Given the description of an element on the screen output the (x, y) to click on. 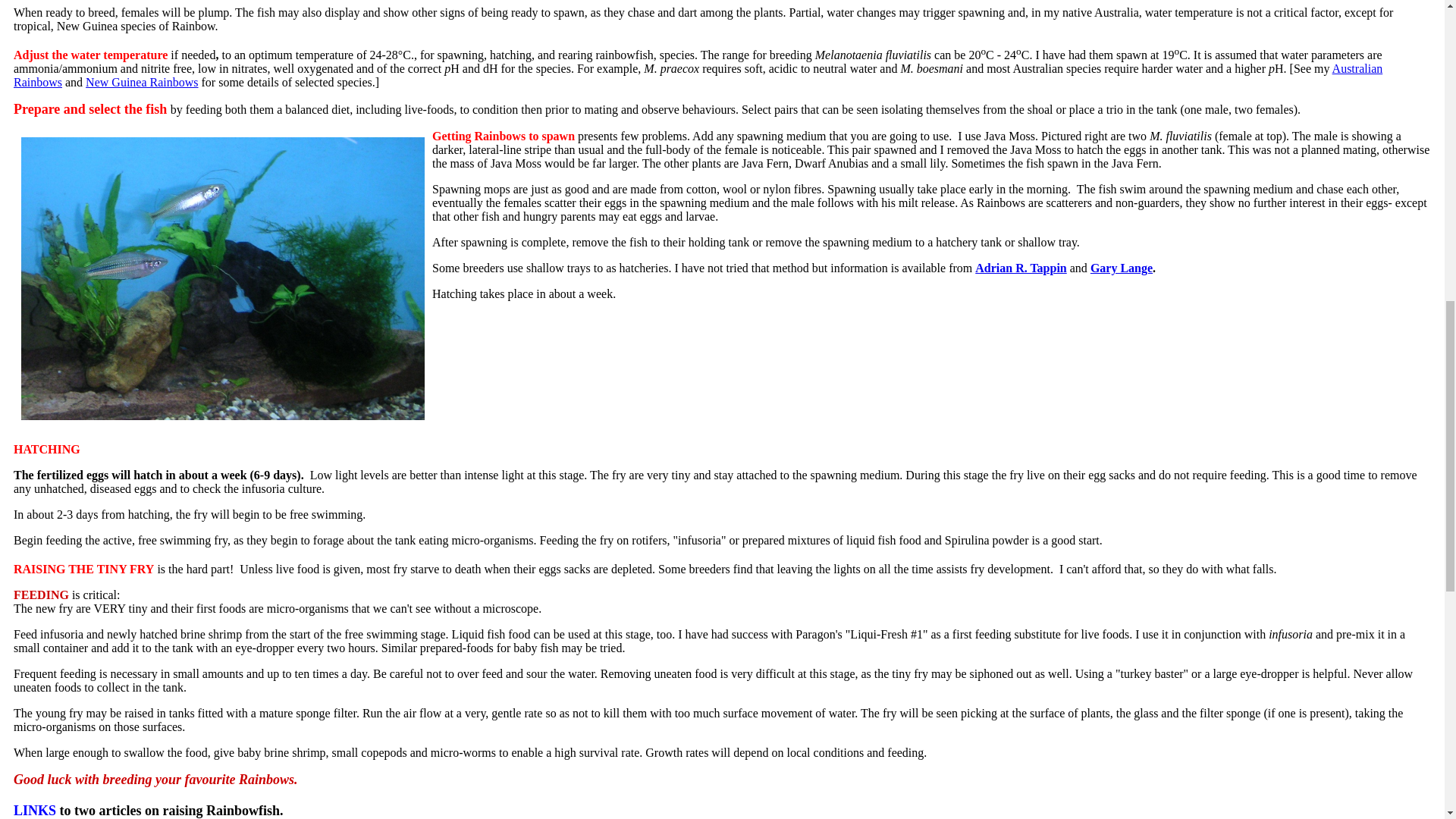
Adrian R. Tappin (1021, 267)
Gary Lange (1121, 267)
Australian Rainbows (697, 75)
New Guinea Rainbows (141, 82)
